Given the description of an element on the screen output the (x, y) to click on. 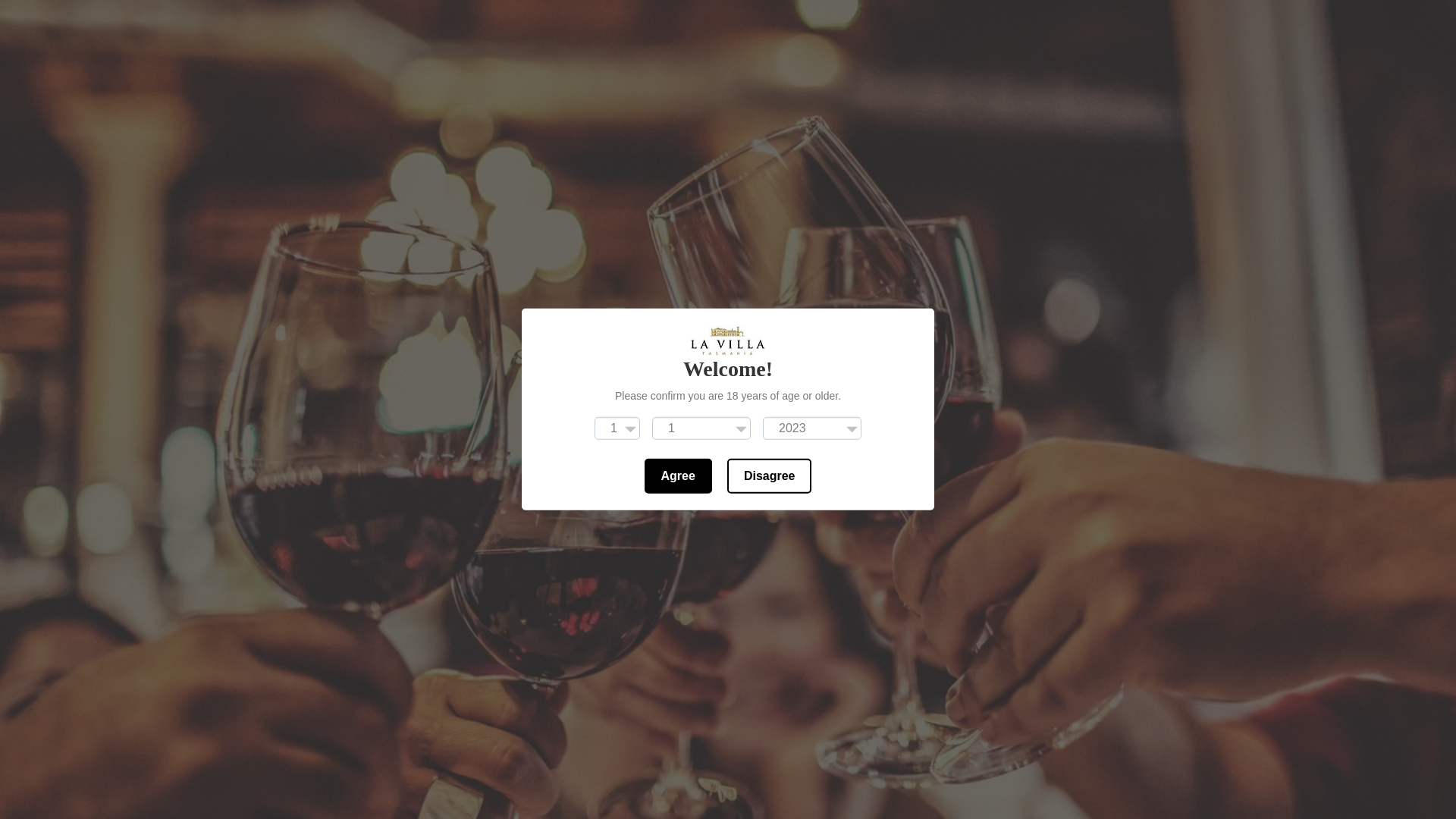
0 items - $0.00 Element type: text (1118, 212)
HOME Element type: text (410, 213)
CONTACT Element type: text (885, 213)
La Villa Wines Element type: hover (727, 97)
NEWS Element type: text (791, 213)
CAMPOMAGGI Element type: text (683, 213)
Disagree Element type: text (769, 475)
Agree Element type: text (678, 475)
Create an account Element type: text (363, 15)
INFO Element type: text (495, 213)
WINE Element type: text (578, 213)
